Given the description of an element on the screen output the (x, y) to click on. 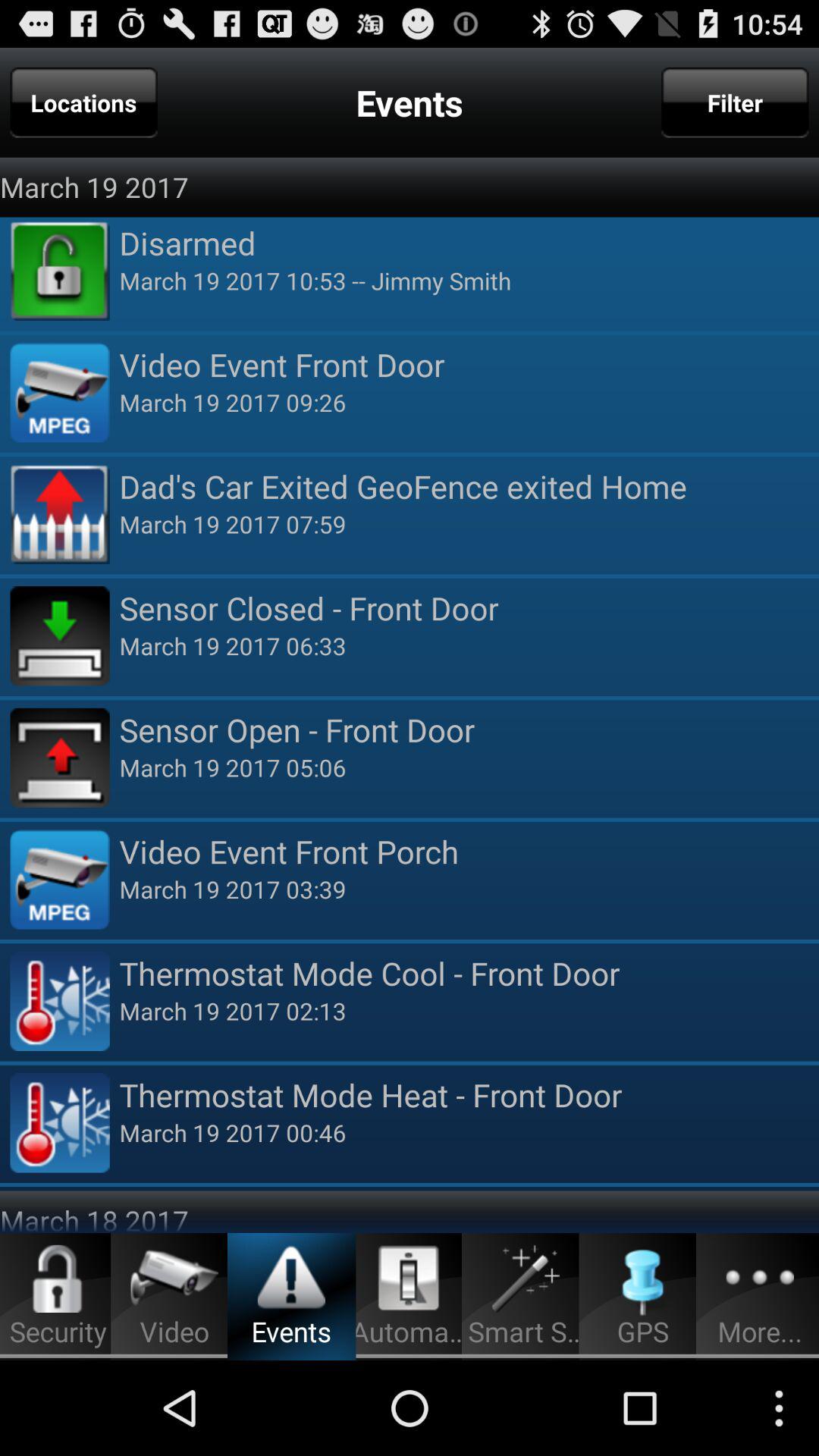
open the item next to the events item (83, 102)
